Given the description of an element on the screen output the (x, y) to click on. 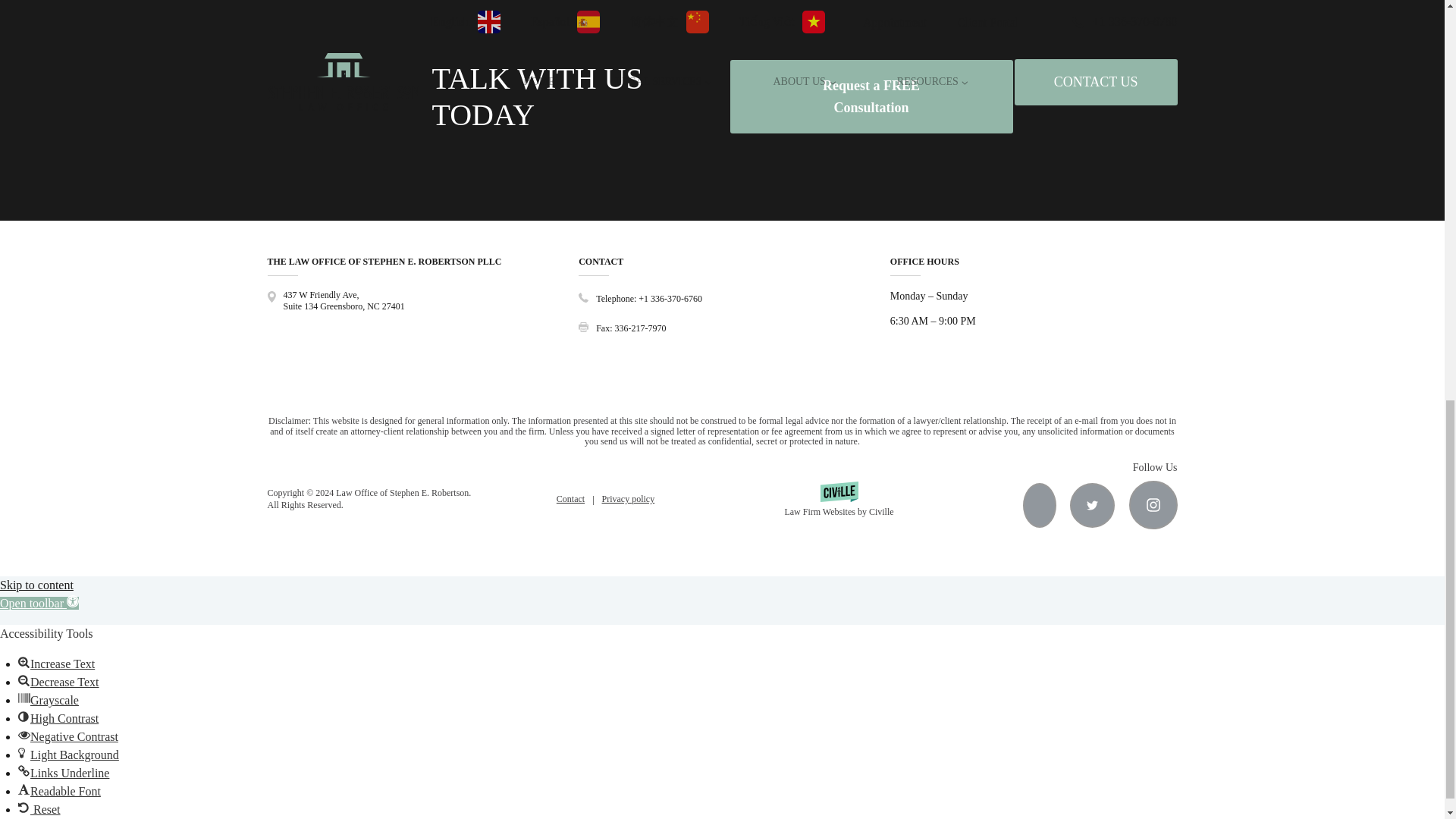
Accessibility Tools (39, 603)
Links Underline (23, 770)
Grayscale (23, 698)
Increase Text (23, 662)
Light Background (23, 752)
Accessibility Tools (72, 601)
Readable Font (23, 788)
Reset (23, 807)
High Contrast (23, 716)
Negative Contrast (23, 734)
